Given the description of an element on the screen output the (x, y) to click on. 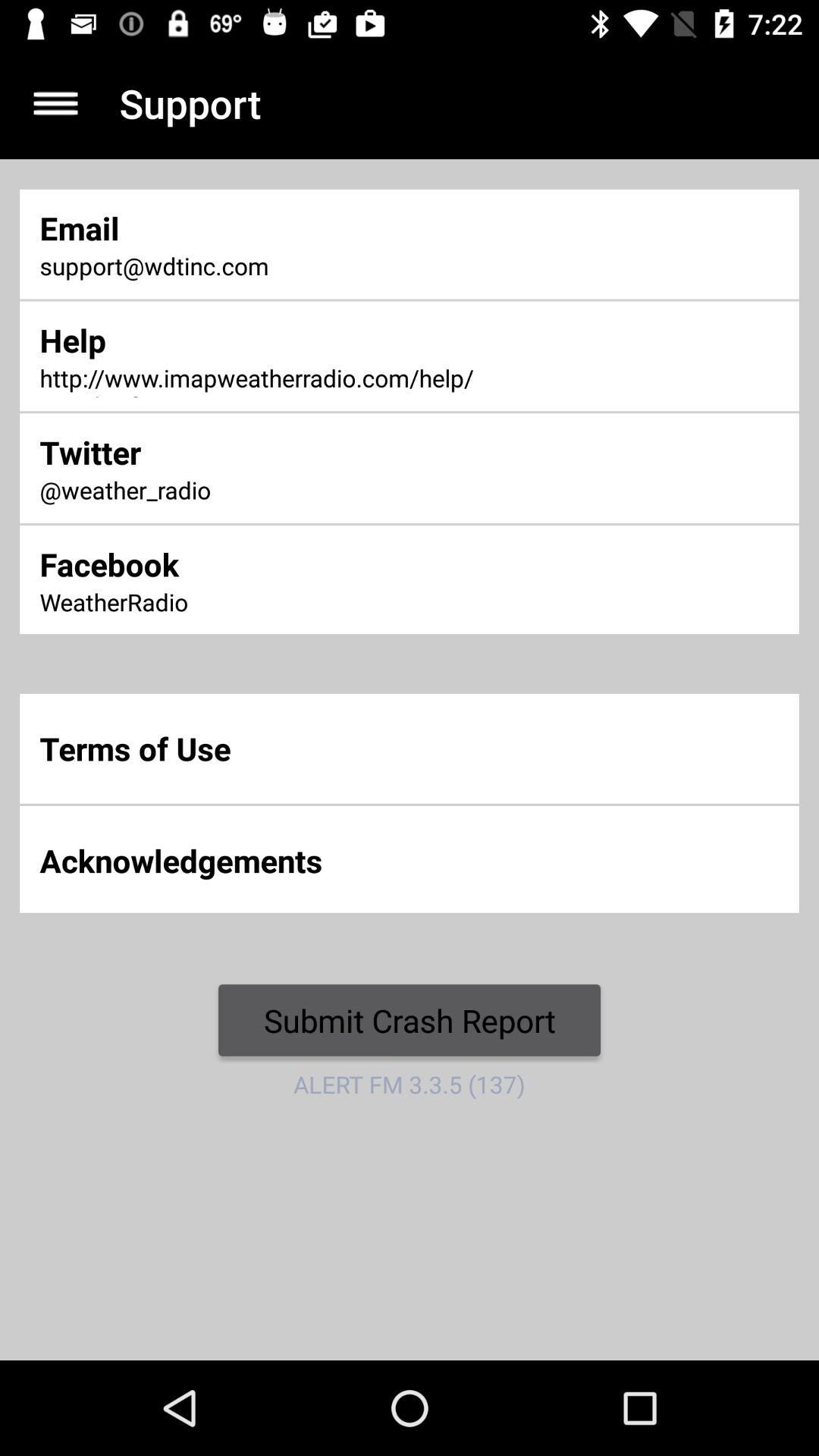
turn off weatherradio item (270, 603)
